Given the description of an element on the screen output the (x, y) to click on. 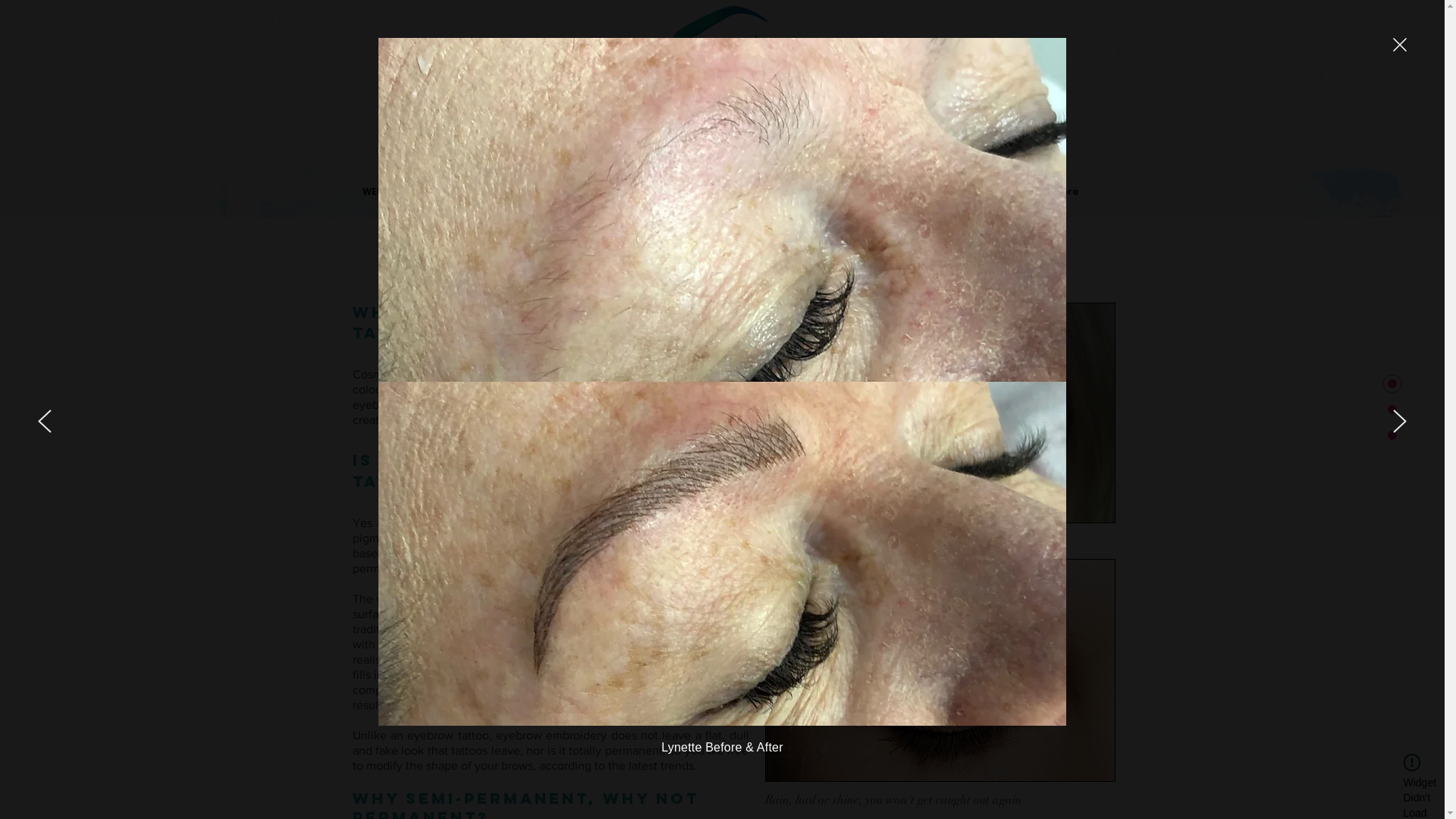
FEATHERED BROWS Element type: text (477, 190)
Woman Working Out Element type: hover (939, 411)
Rain Element type: hover (939, 669)
FAQs Element type: text (954, 190)
OUR PRICING Element type: text (888, 190)
WELCOME Element type: text (385, 190)
REVIEWS Element type: text (1009, 190)
HAIR EXTENSIONS Element type: text (793, 190)
FIBROBLAST PLASMA SKIN TIGHTENING Element type: text (637, 190)
